Given the description of an element on the screen output the (x, y) to click on. 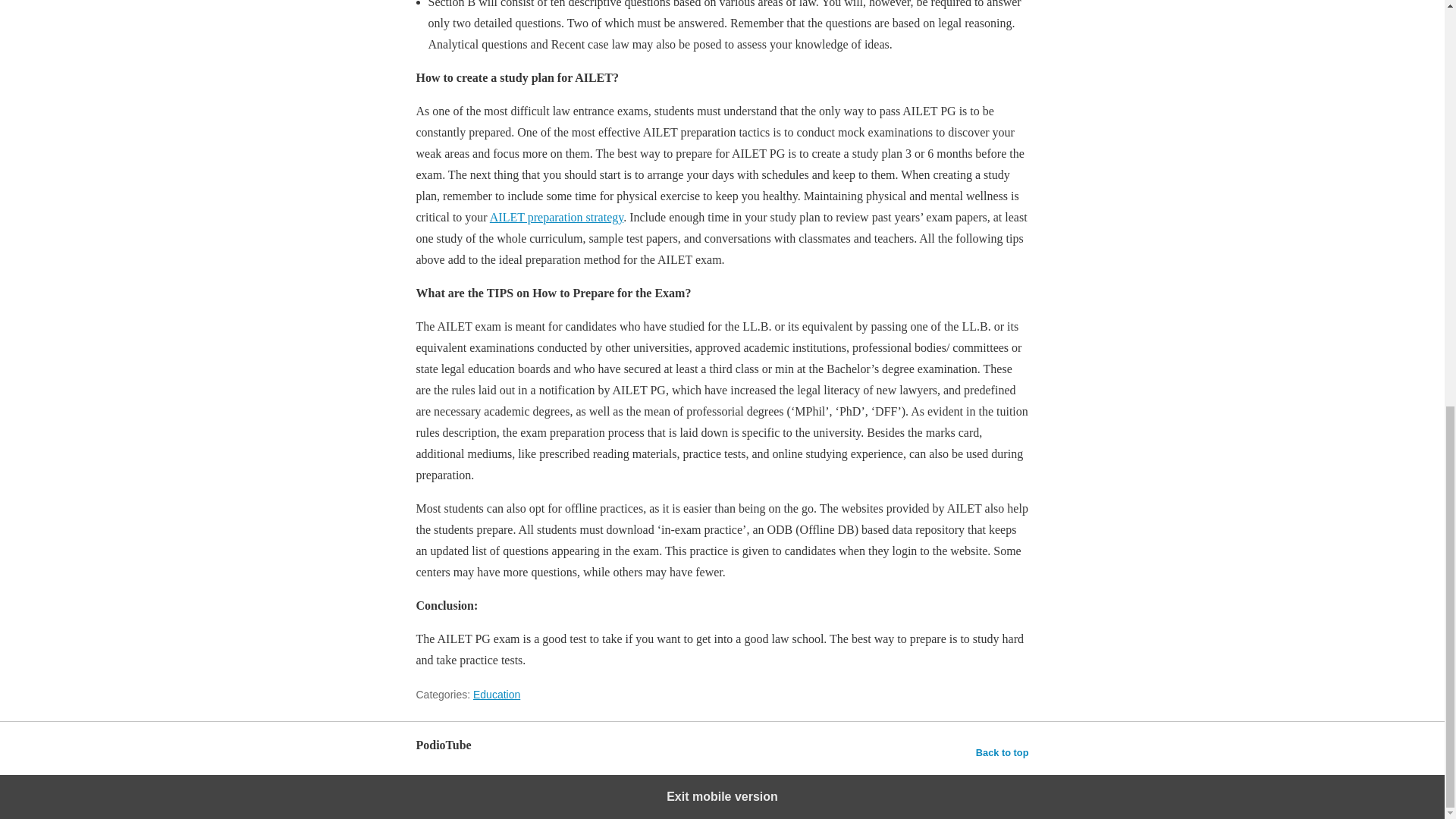
AILET preparation strategy (556, 216)
Education (496, 694)
Back to top (1002, 752)
